Given the description of an element on the screen output the (x, y) to click on. 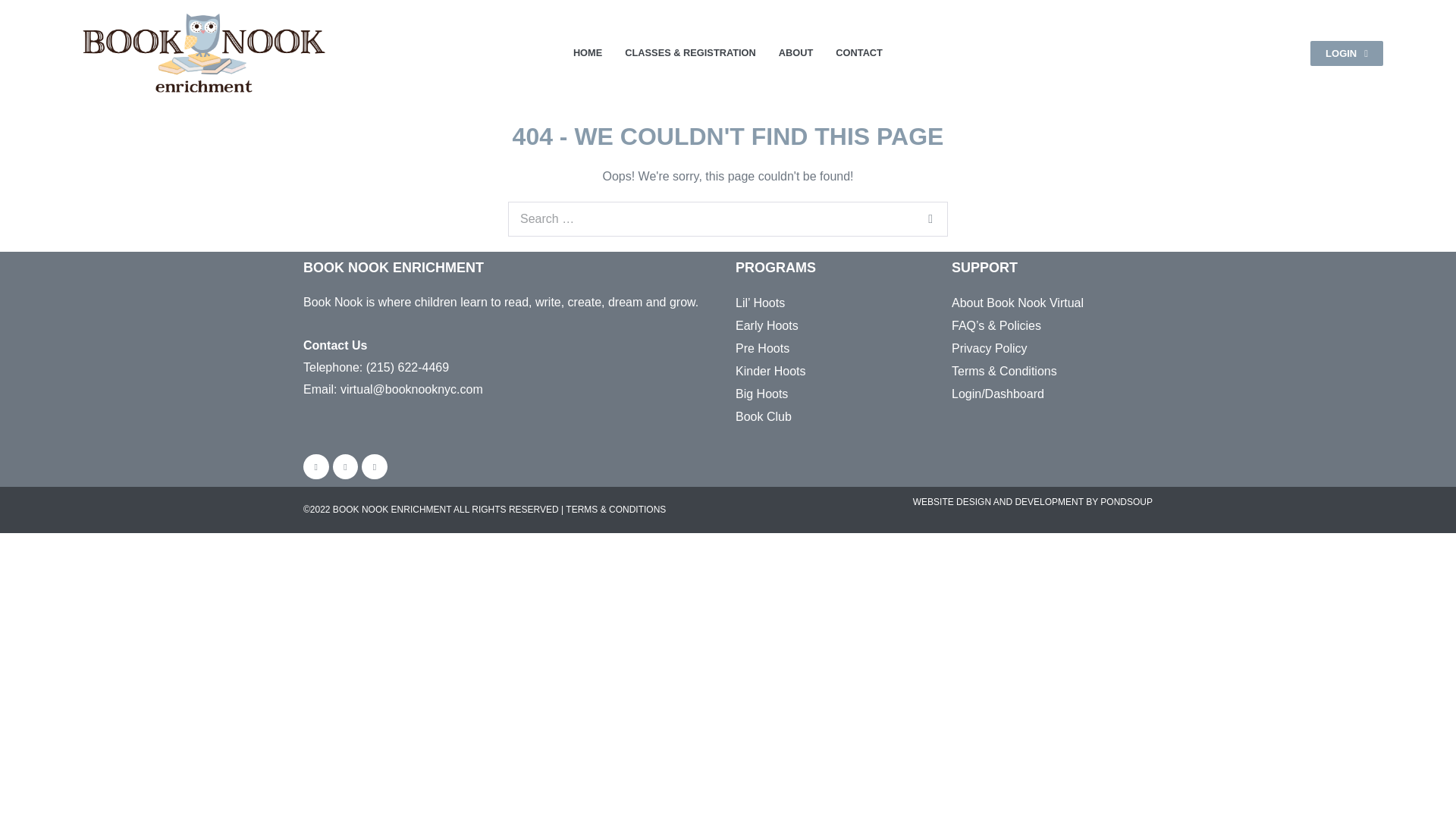
Press enter to search (727, 218)
HOME (587, 52)
Big Hoots (814, 394)
Pre Hoots (814, 348)
Kinder Hoots (814, 371)
Early Hoots (814, 325)
CONTACT (858, 52)
ABOUT (795, 52)
LOGIN (1346, 53)
